Given the description of an element on the screen output the (x, y) to click on. 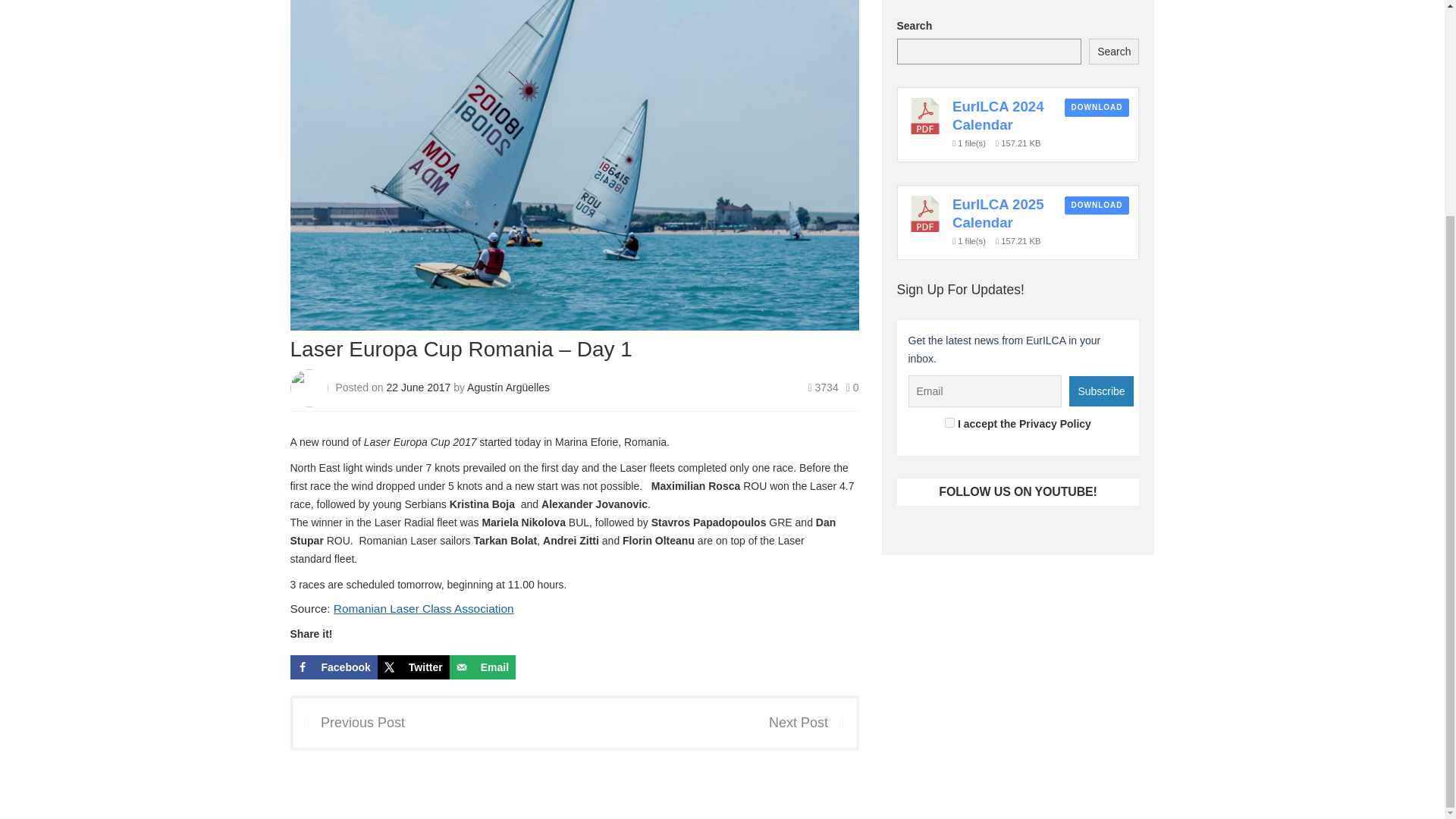
Share on X (413, 667)
Share on Facebook (333, 667)
Subscribe (1100, 390)
on (949, 422)
Send over email (482, 667)
